Given the description of an element on the screen output the (x, y) to click on. 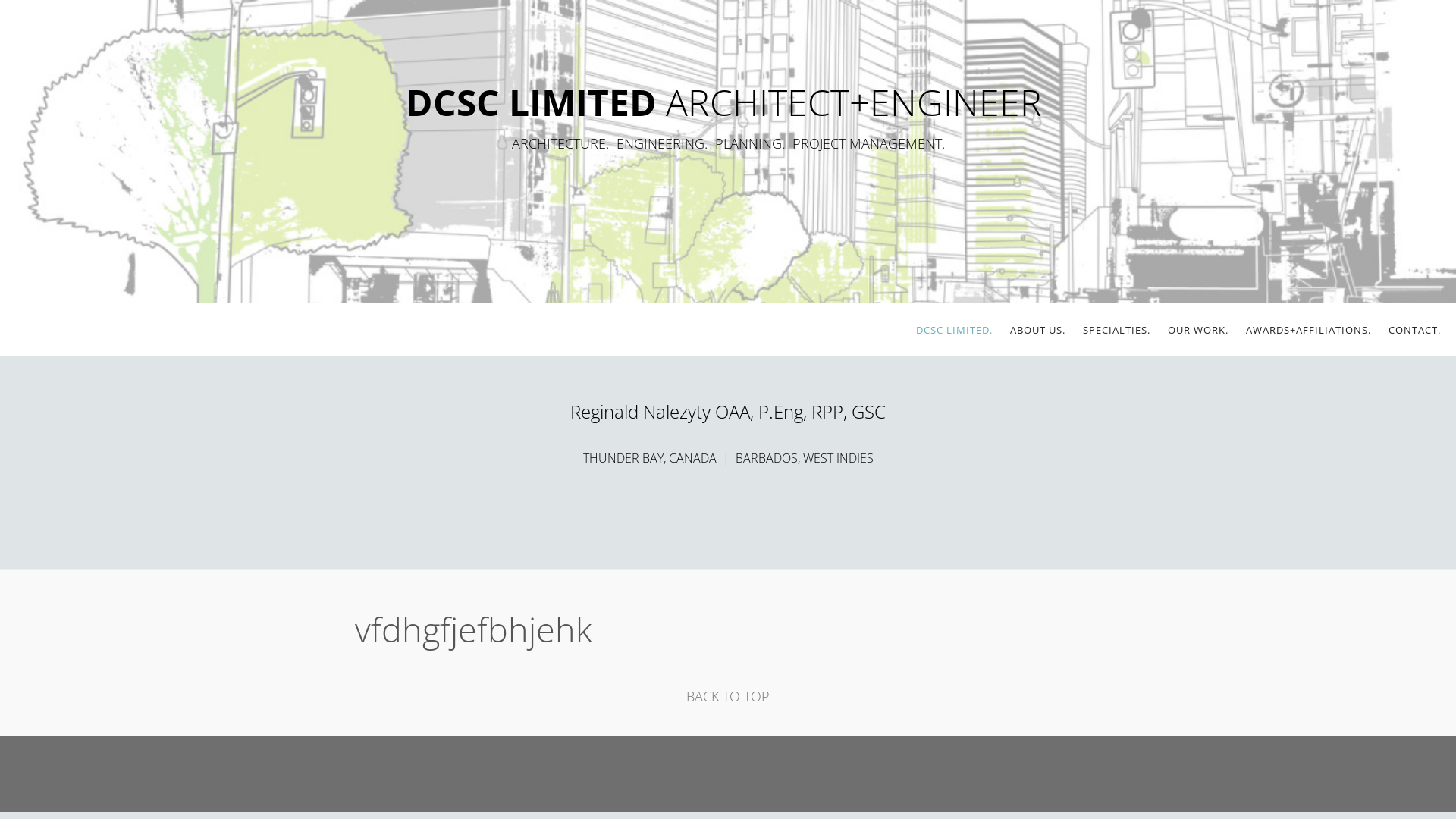
ABOUT US. Element type: text (1037, 329)
DCSC LIMITED. Element type: text (954, 329)
AWARDS+AFFILIATIONS. Element type: text (1308, 329)
SPECIALTIES. Element type: text (1116, 329)
BACK TO TOP Element type: text (727, 695)
CONTACT. Element type: text (1414, 329)
OUR WORK. Element type: text (1197, 329)
